Given the description of an element on the screen output the (x, y) to click on. 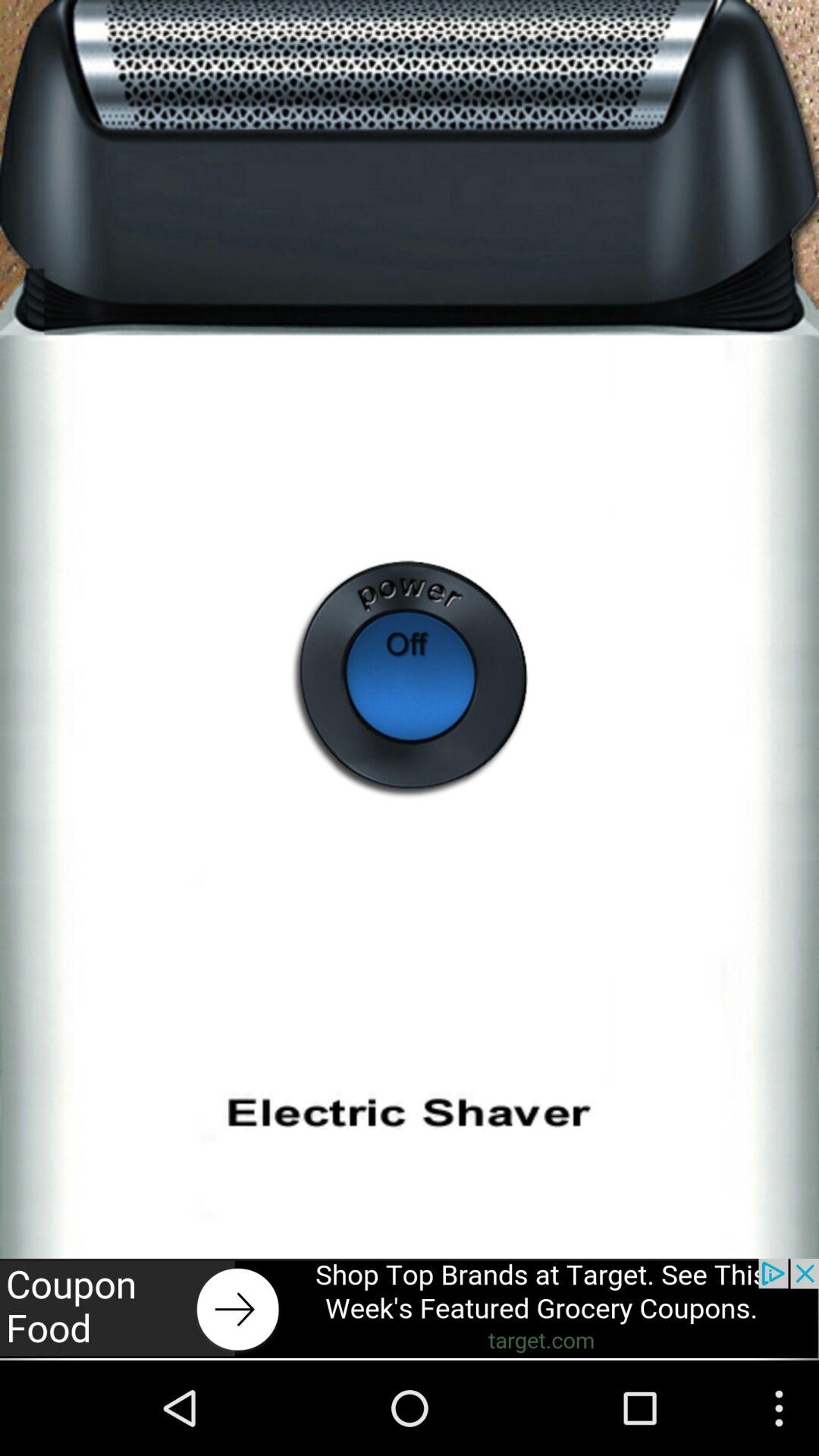
power off/on button (409, 679)
